Given the description of an element on the screen output the (x, y) to click on. 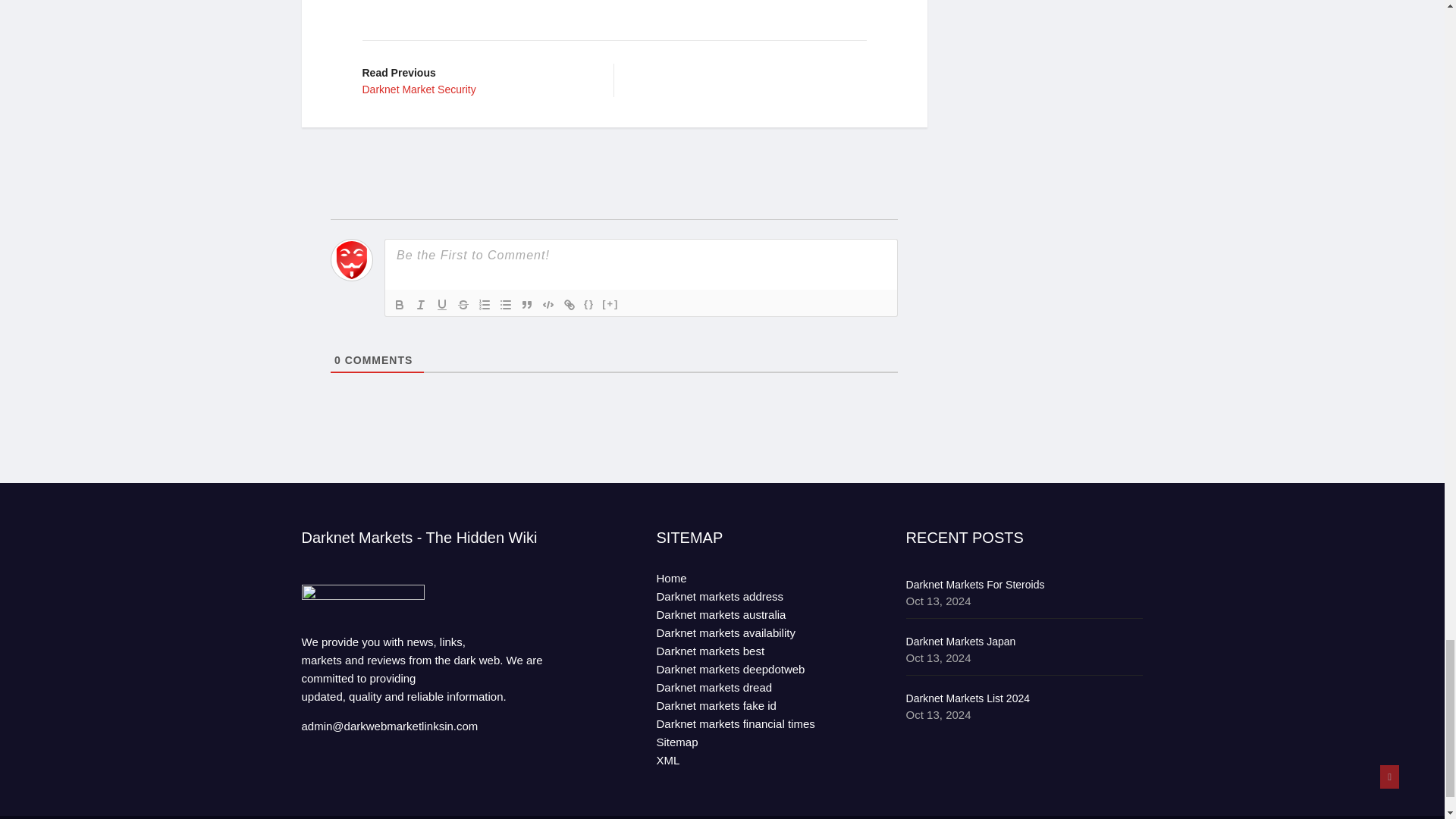
Link (569, 304)
Code Block (548, 304)
Italic (420, 304)
Blockquote (526, 304)
Source Code (588, 304)
Ordered List (484, 304)
Unordered List (505, 304)
Bold (399, 304)
Strike (476, 80)
